Given the description of an element on the screen output the (x, y) to click on. 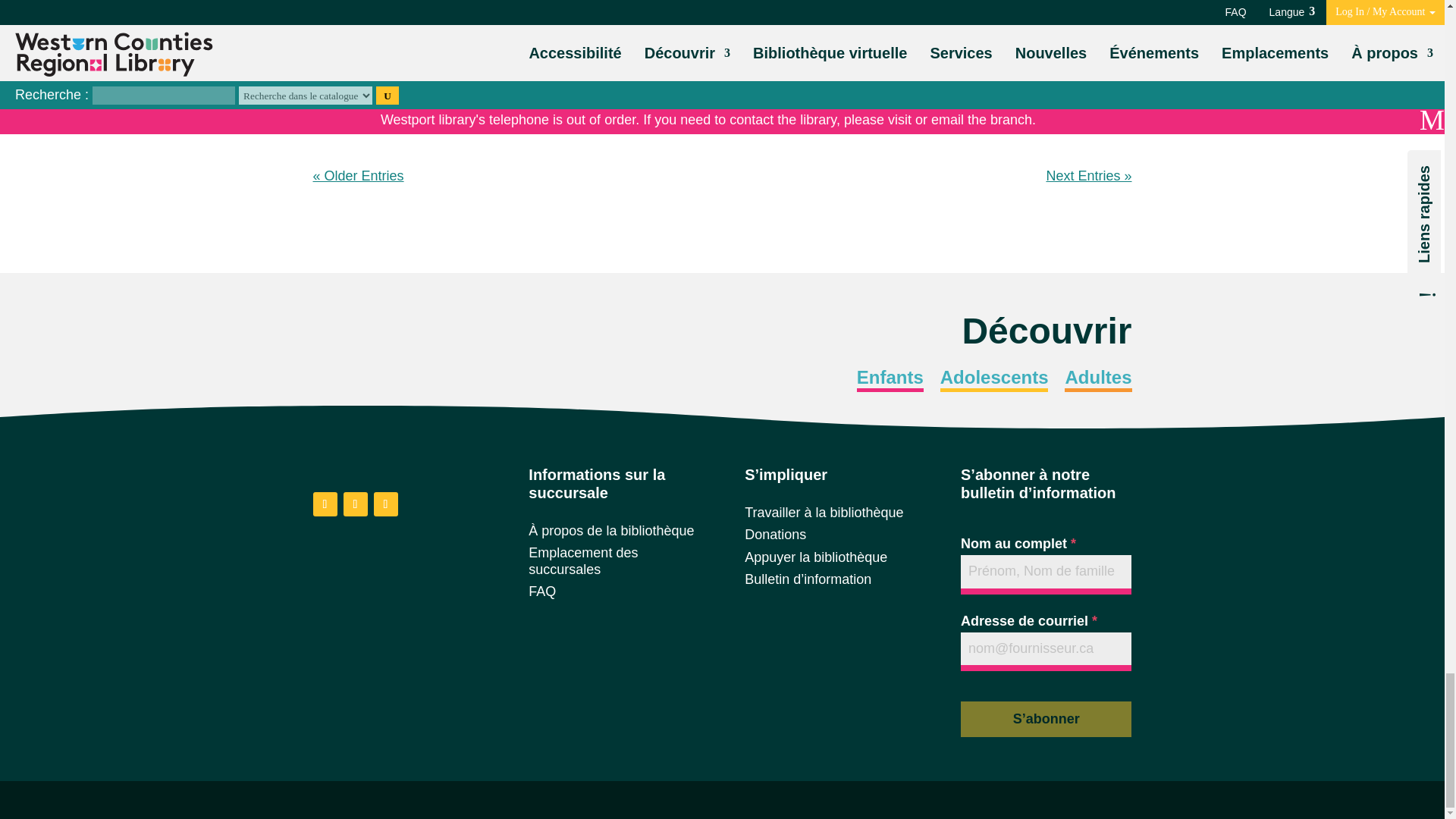
Follow on Facebook (324, 504)
